Given the description of an element on the screen output the (x, y) to click on. 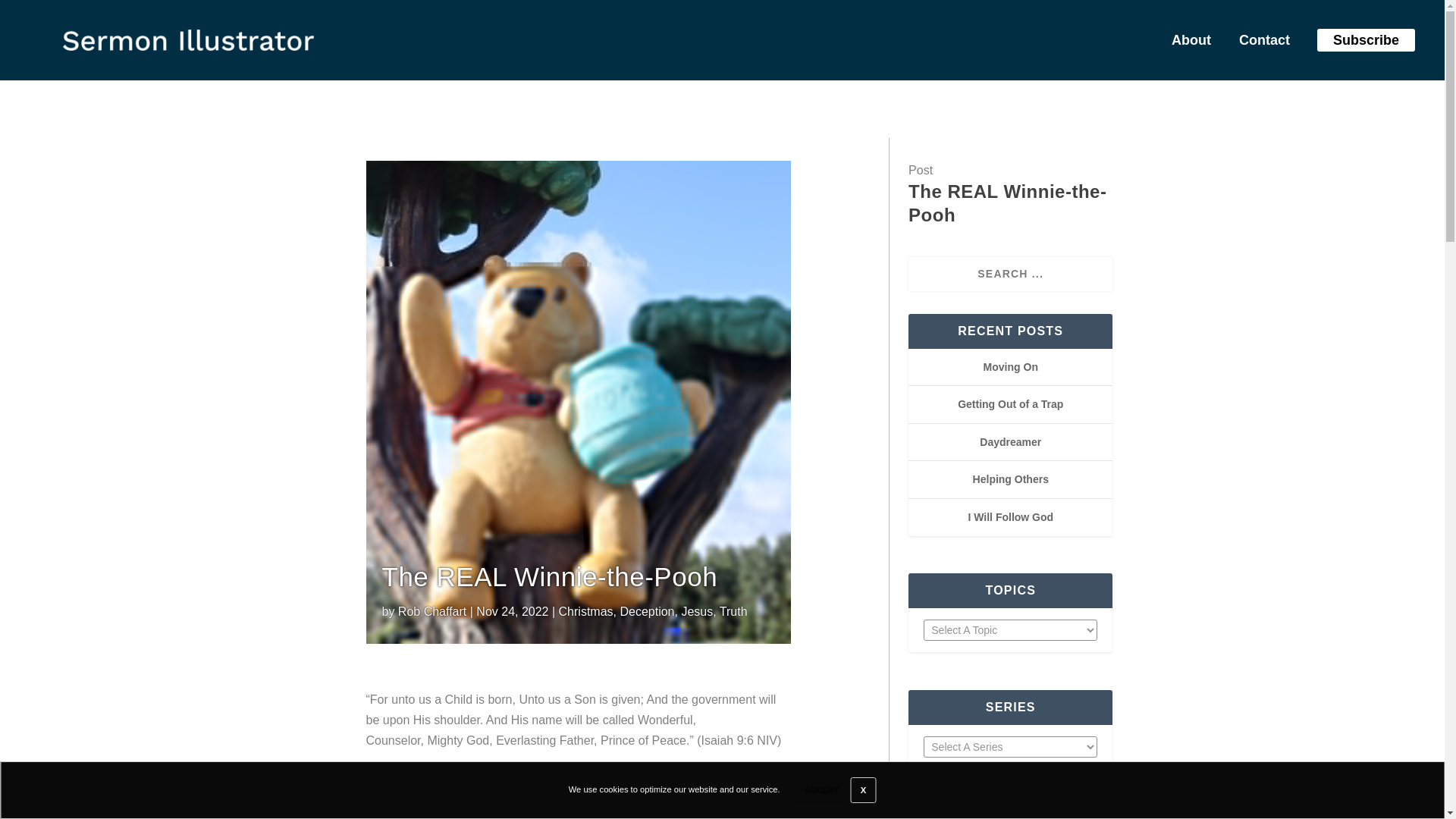
Deception (647, 611)
Getting Out of a Trap (1010, 404)
Daydreamer (1010, 441)
Helping Others (1010, 479)
Rob Chaffart (431, 611)
Contact (1258, 43)
ACCEPT (821, 790)
About (1185, 43)
Jesus (697, 611)
Posts by Rob Chaffart (431, 611)
Moving On (1011, 367)
X (863, 790)
Truth (733, 611)
Search (29, 13)
Subscribe (1365, 39)
